Given the description of an element on the screen output the (x, y) to click on. 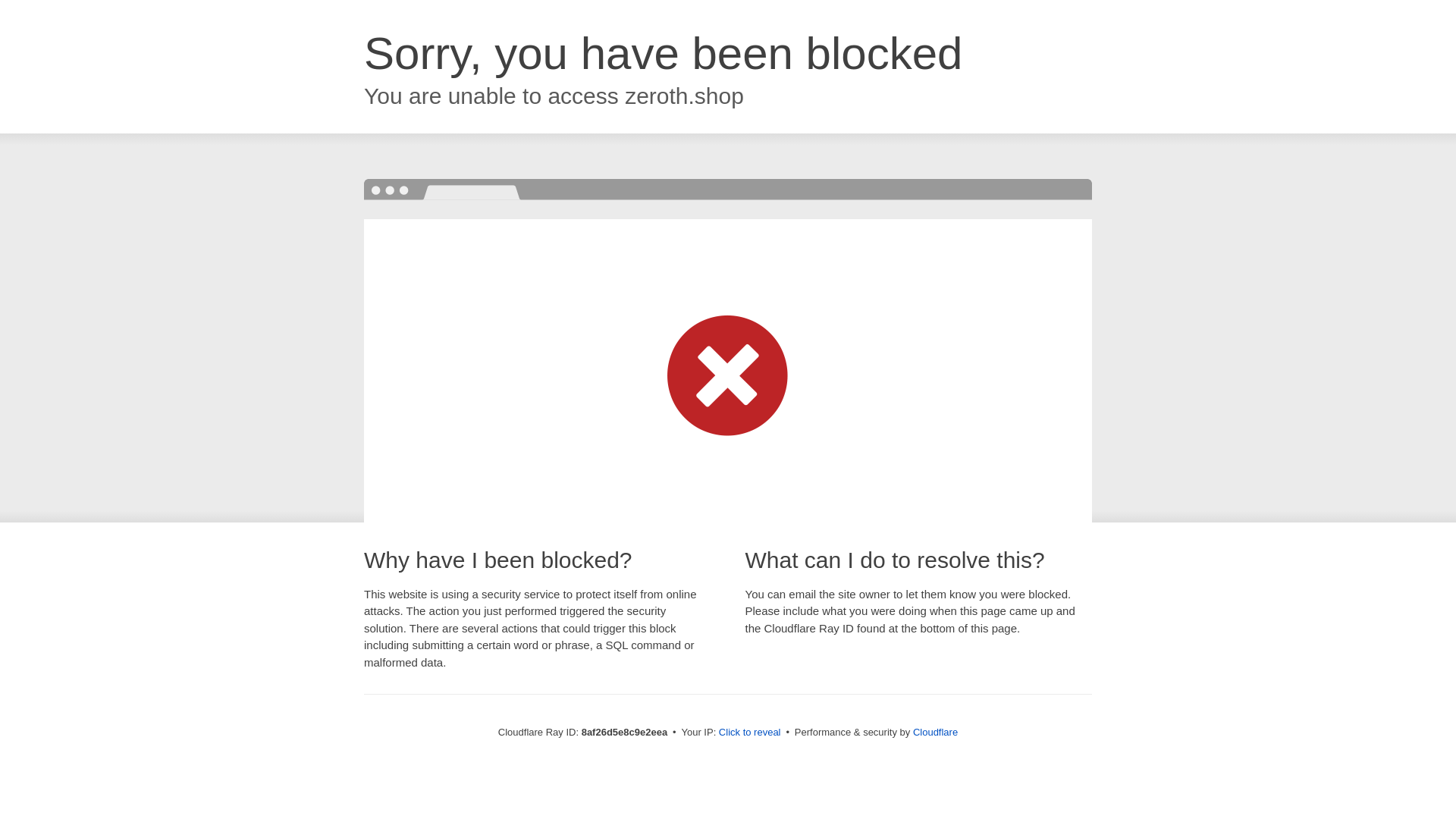
Cloudflare (935, 731)
Click to reveal (749, 732)
